Given the description of an element on the screen output the (x, y) to click on. 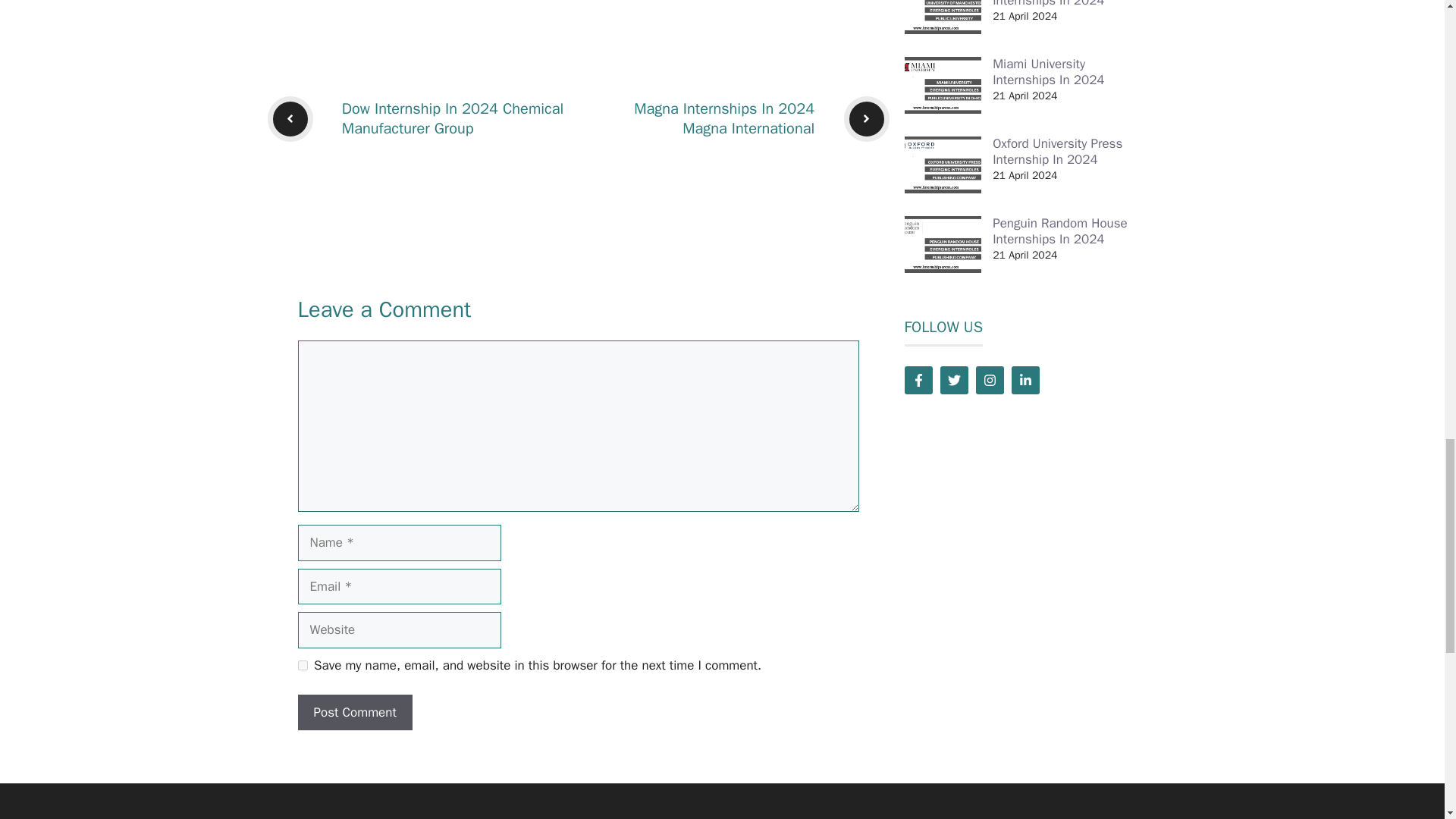
Post Comment (354, 712)
Magna Internships In 2024 Magna International (723, 118)
Post Comment (354, 712)
Dow Internship In 2024 Chemical Manufacturer Group (452, 118)
yes (302, 665)
